Given the description of an element on the screen output the (x, y) to click on. 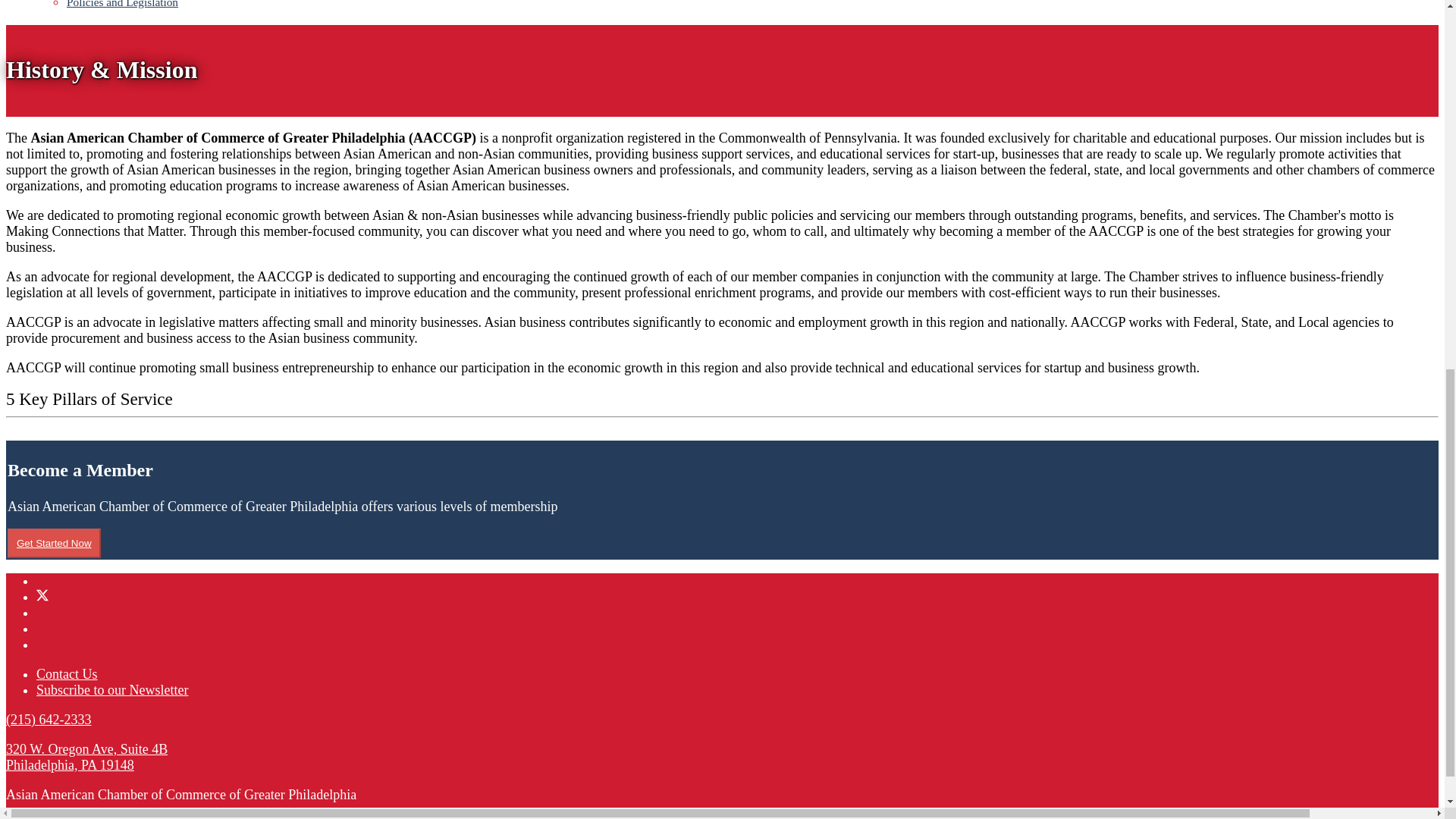
Get Started Now (53, 542)
Policies and Legislation (121, 4)
Get Started Now (53, 542)
Subscribe to our Newsletter (111, 689)
Contact Us (66, 673)
